Given the description of an element on the screen output the (x, y) to click on. 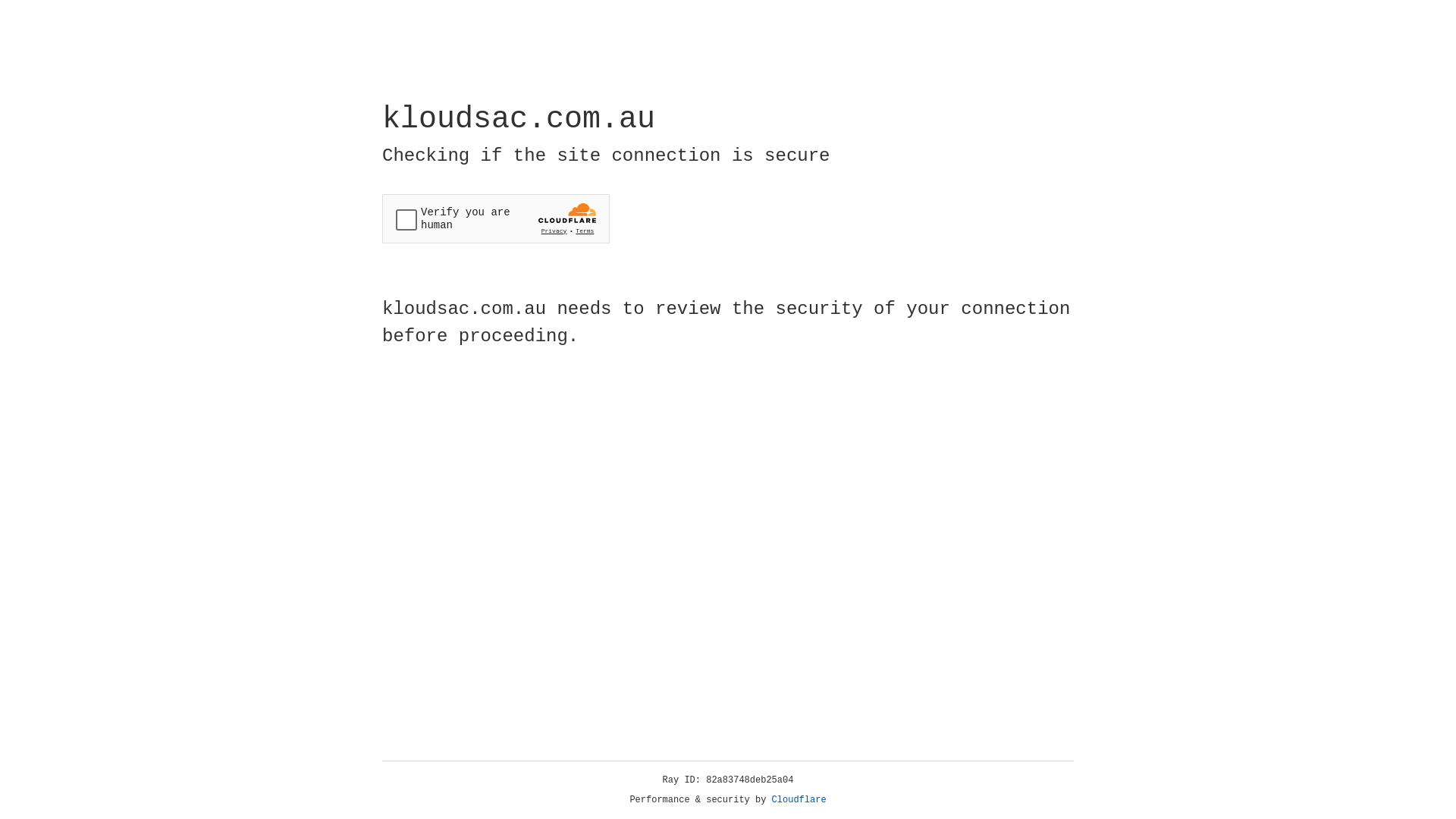
Widget containing a Cloudflare security challenge Element type: hover (495, 218)
Cloudflare Element type: text (798, 799)
